Given the description of an element on the screen output the (x, y) to click on. 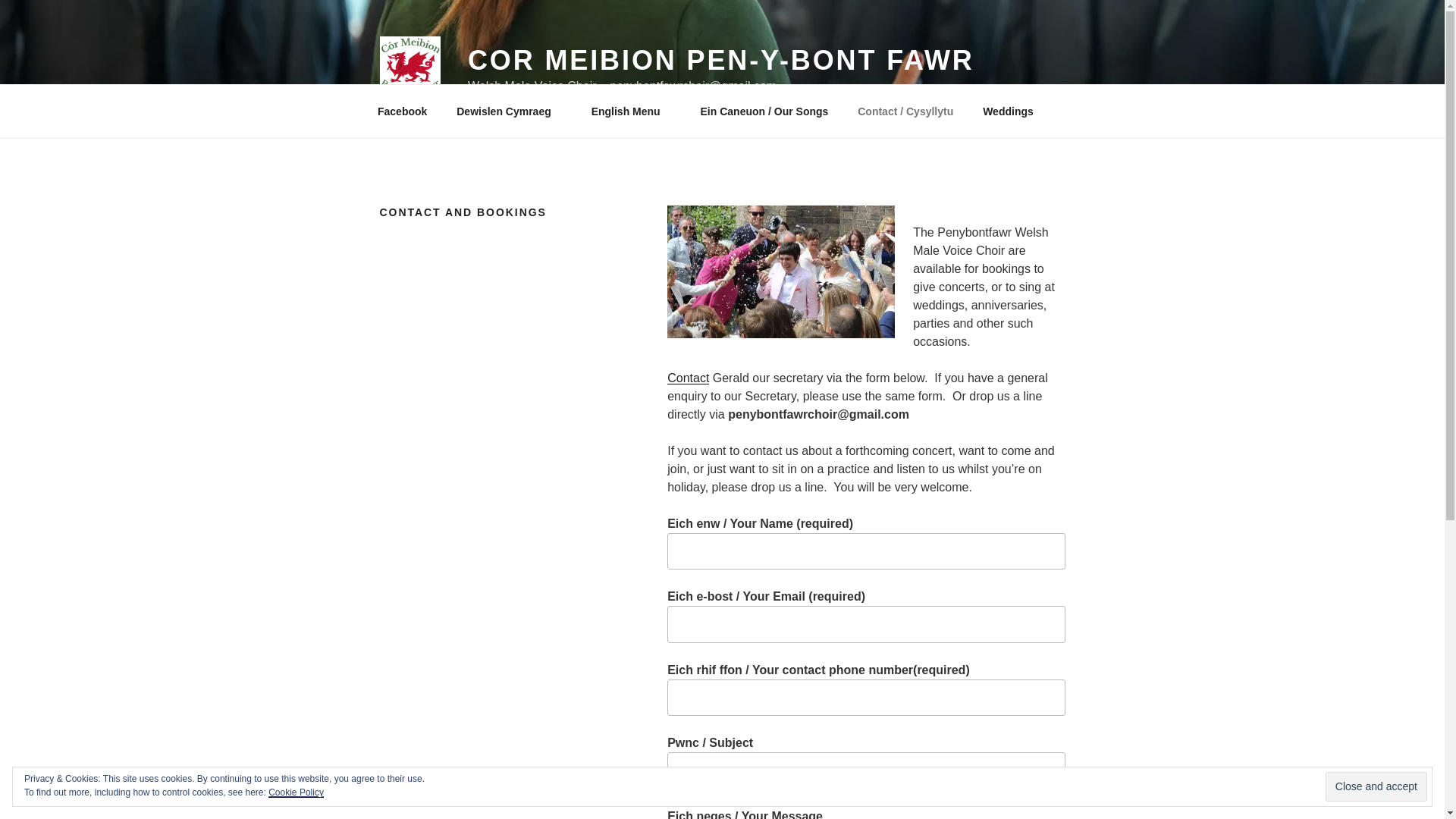
Close and accept (1375, 786)
Facebook (401, 110)
Contact (687, 377)
Cookie Policy (295, 792)
Weddings (1007, 110)
COR MEIBION PEN-Y-BONT FAWR (720, 60)
English Menu (631, 110)
Close and accept (1375, 786)
Dewislen Cymraeg (509, 110)
